Given the description of an element on the screen output the (x, y) to click on. 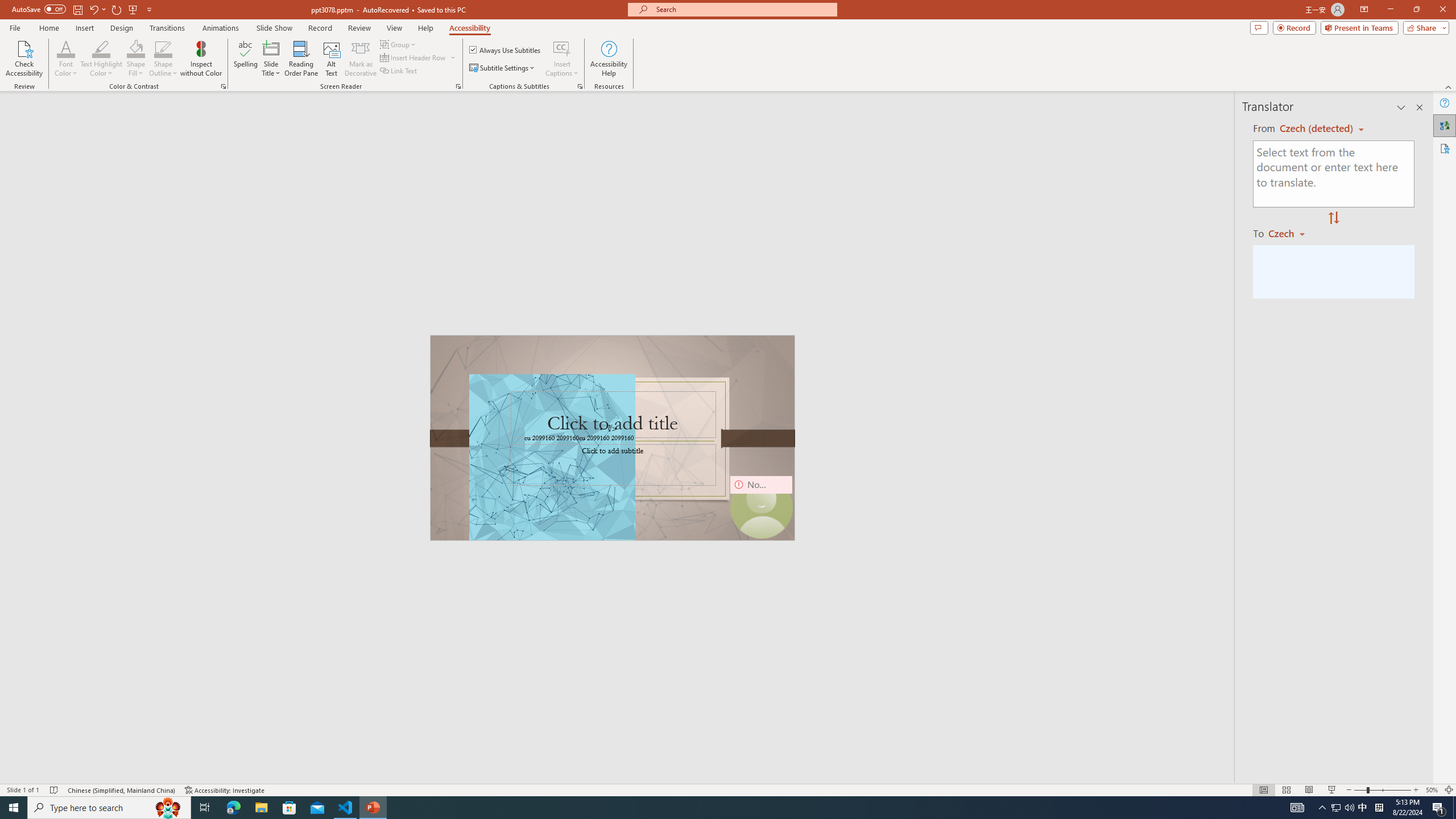
Insert Captions (561, 48)
Slide Title (271, 58)
Mark as Decorative (360, 58)
Color & Contrast (223, 85)
Camera 9, No camera detected. (761, 506)
Subtitle Settings (502, 67)
TextBox 7 (608, 428)
Zoom 50% (1431, 790)
